Given the description of an element on the screen output the (x, y) to click on. 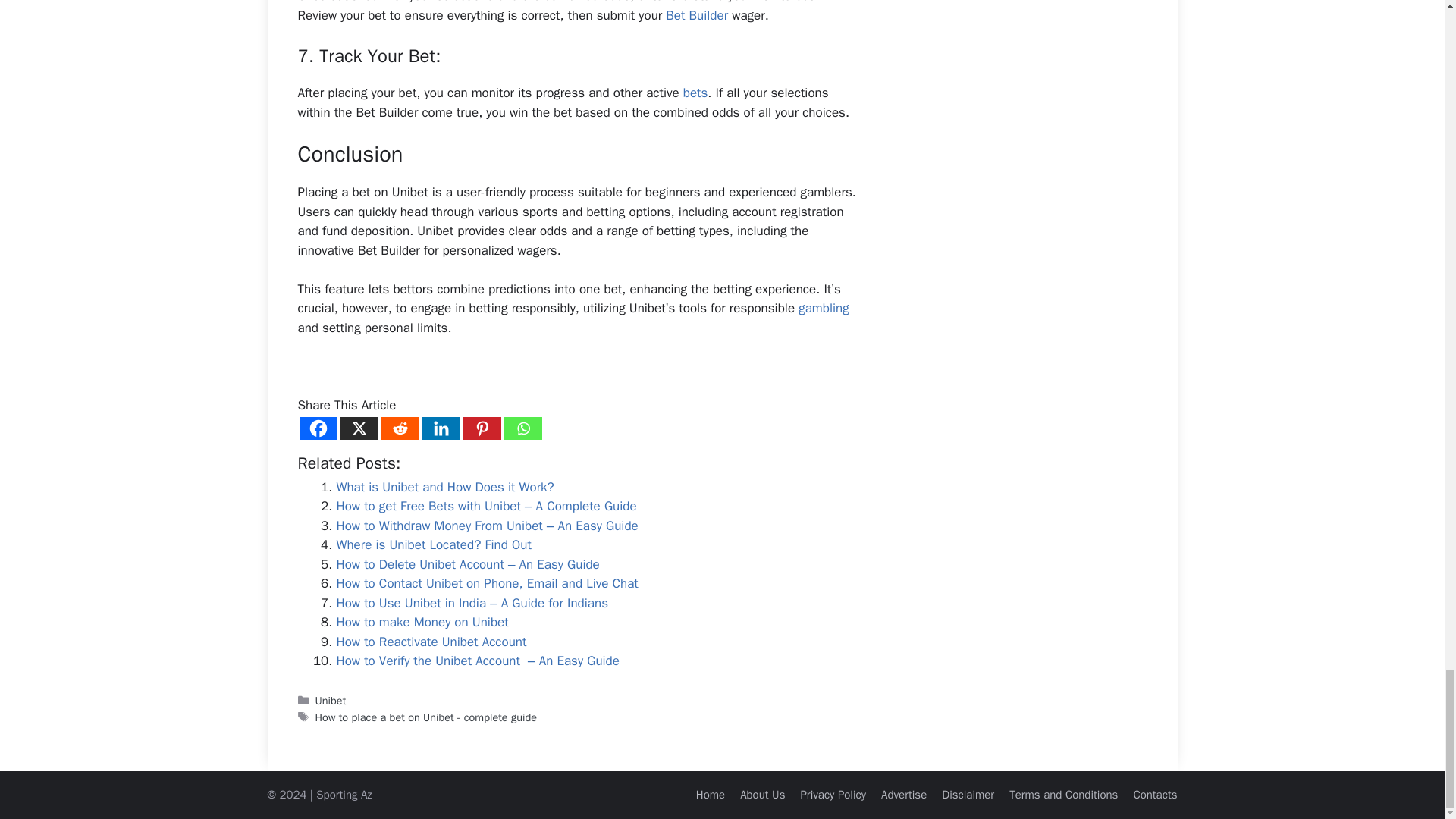
How to Contact Unibet on Phone, Email and Live Chat (487, 583)
What is Unibet and How Does it Work? (445, 487)
What is Unibet and How Does it Work? (445, 487)
How to make Money on Unibet (422, 621)
Where is Unibet Located? Find Out (433, 544)
How to Contact Unibet on Phone, Email and Live Chat (487, 583)
Reddit (399, 427)
Bet Builder (696, 15)
Where is Unibet Located? Find Out (433, 544)
gambling (822, 308)
